Given the description of an element on the screen output the (x, y) to click on. 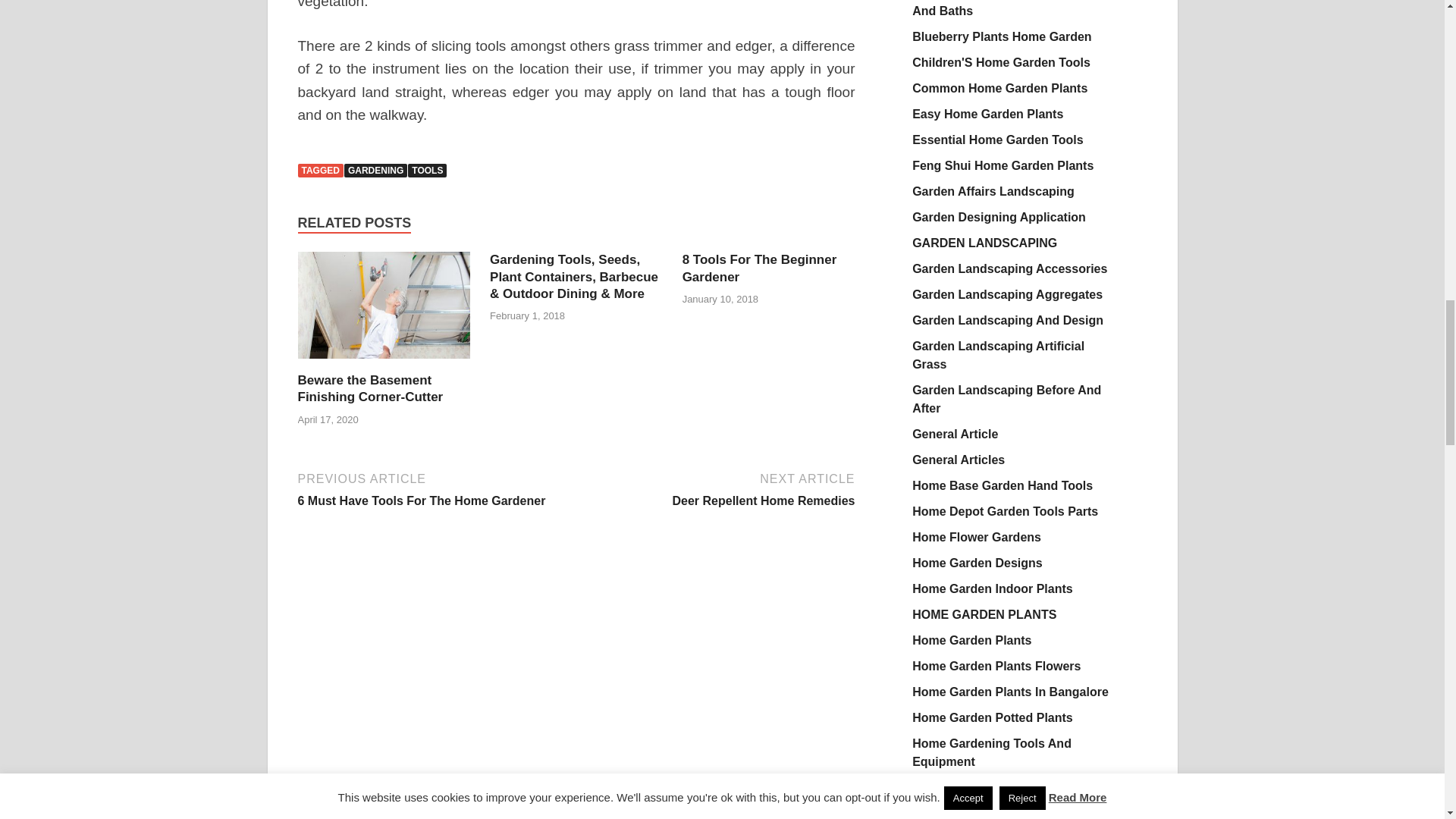
8 Tools For The Beginner Gardener (759, 267)
Beware the Basement Finishing Corner-Cutter (369, 388)
Beware the Basement Finishing Corner-Cutter (383, 362)
